Given the description of an element on the screen output the (x, y) to click on. 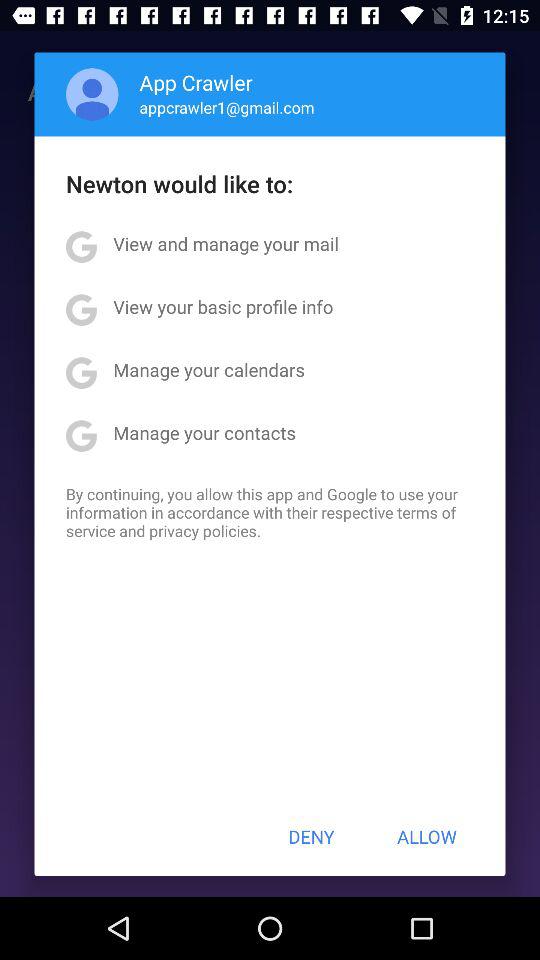
select item above view your basic app (225, 243)
